Given the description of an element on the screen output the (x, y) to click on. 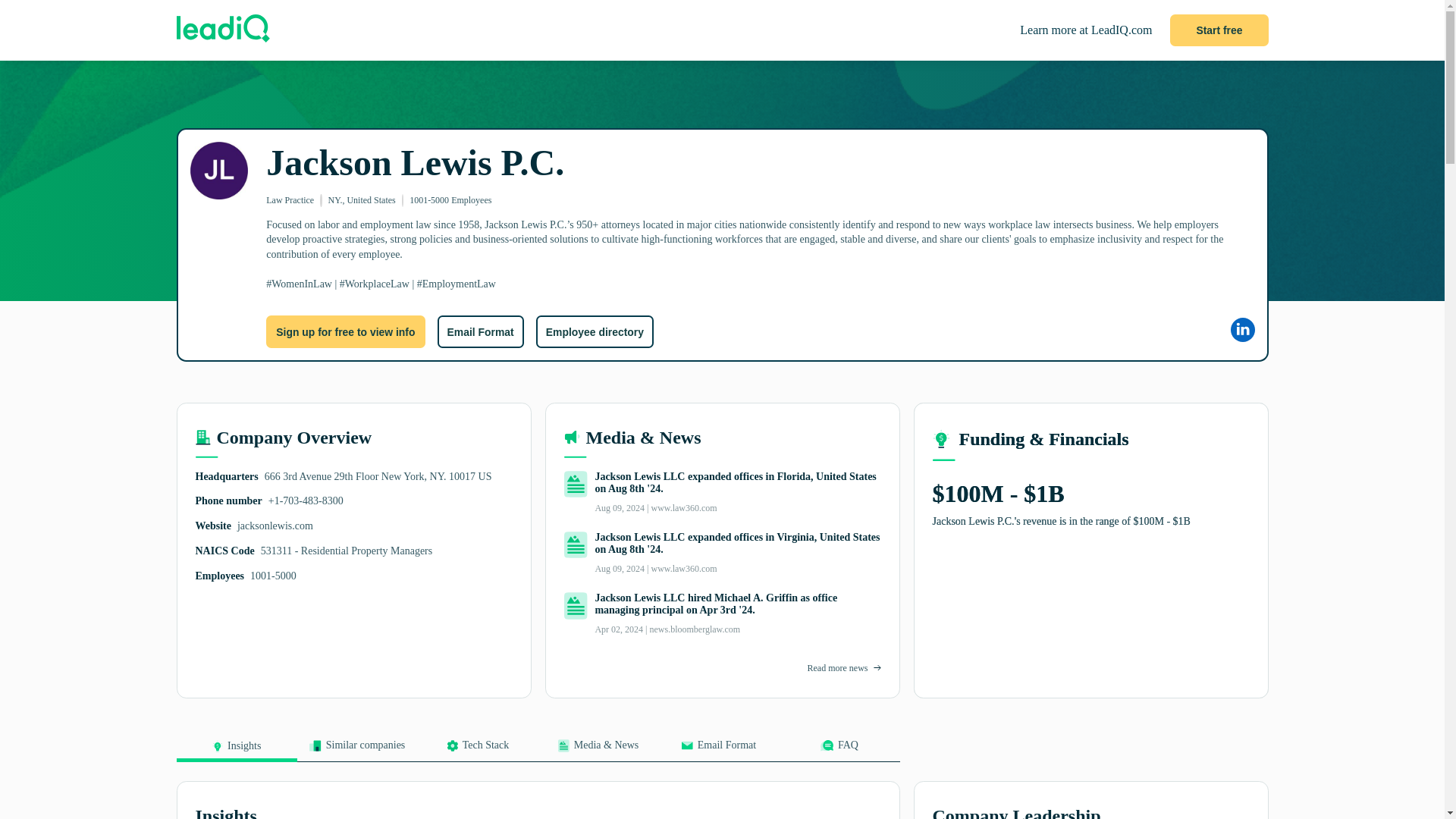
FAQ (838, 749)
Similar companies (357, 749)
Learn more at LeadIQ.com (1085, 29)
Start free (1219, 29)
Tech Stack (476, 749)
Insights (236, 751)
Sign up for free to view info (345, 331)
Email Format (479, 331)
Email Format (718, 749)
Employee directory (594, 331)
